Given the description of an element on the screen output the (x, y) to click on. 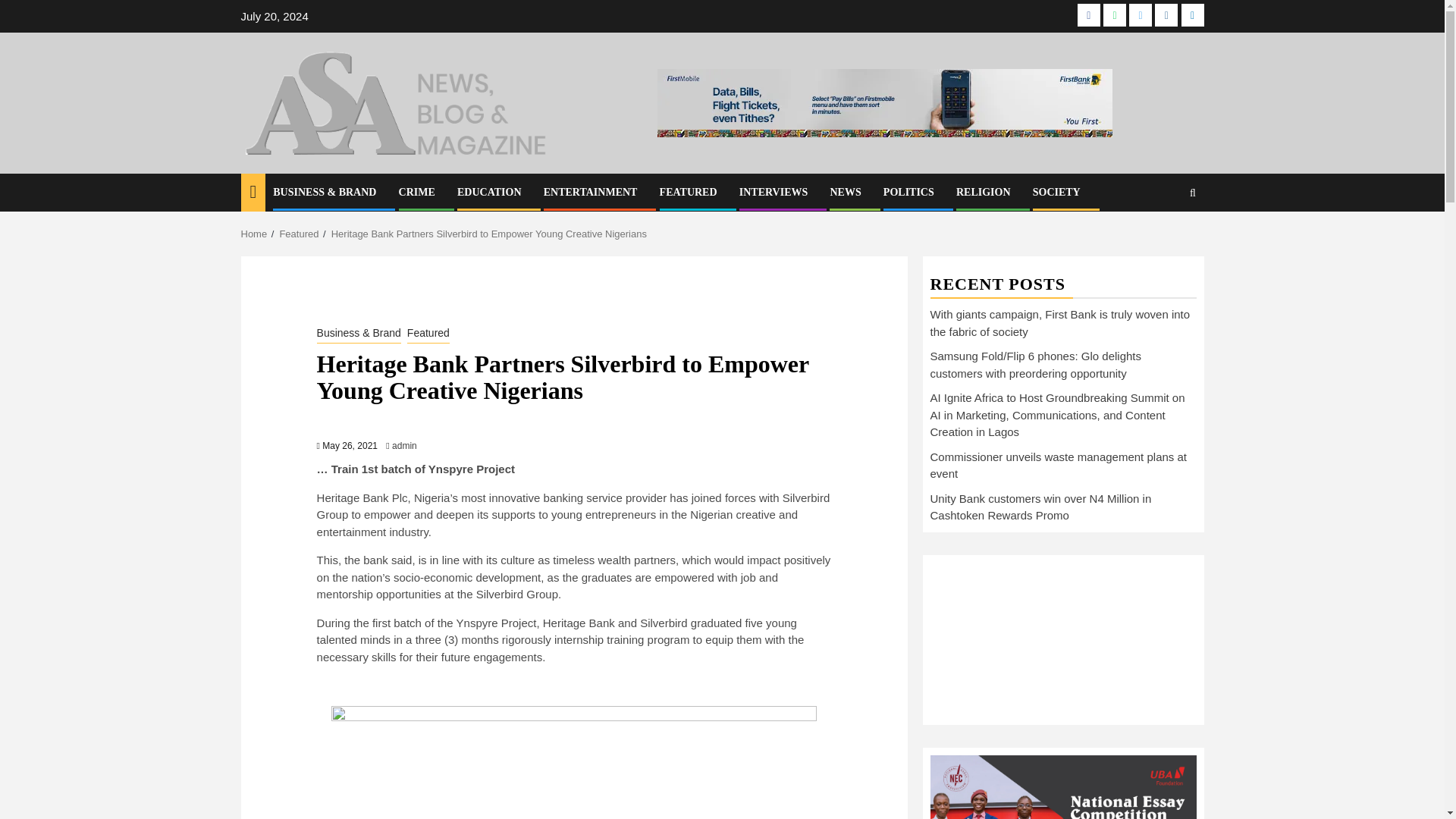
Instagram (1165, 15)
CRIME (416, 192)
RELIGION (983, 192)
VideoPress Video Player (1062, 636)
FEATURED (688, 192)
Facebook (1088, 15)
Search (1163, 237)
NEWS (844, 192)
SOCIETY (1056, 192)
admin (403, 445)
Featured (298, 233)
Twitter (1140, 15)
Featured (428, 334)
POLITICS (908, 192)
